Given the description of an element on the screen output the (x, y) to click on. 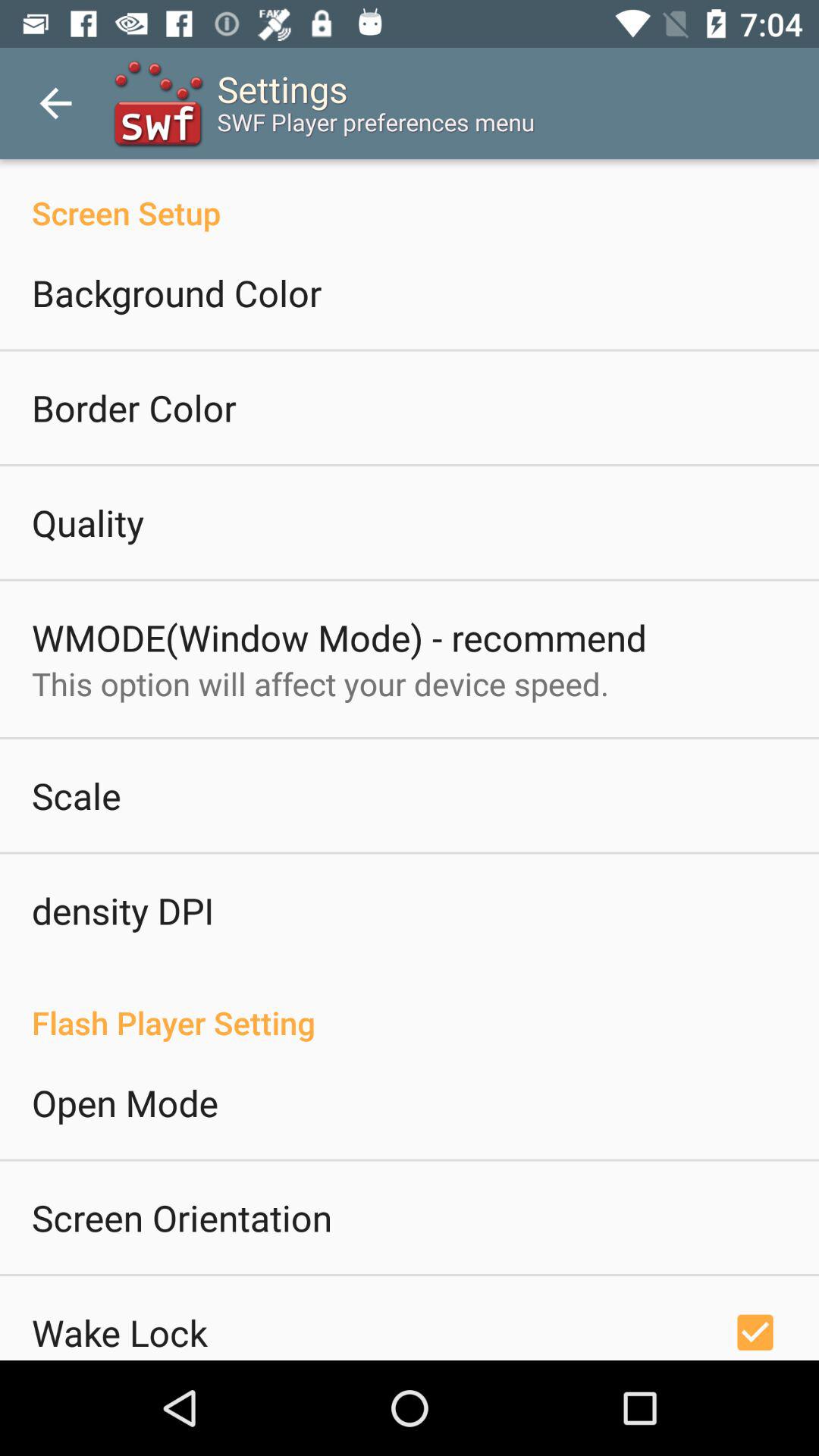
scroll to border color item (133, 407)
